Given the description of an element on the screen output the (x, y) to click on. 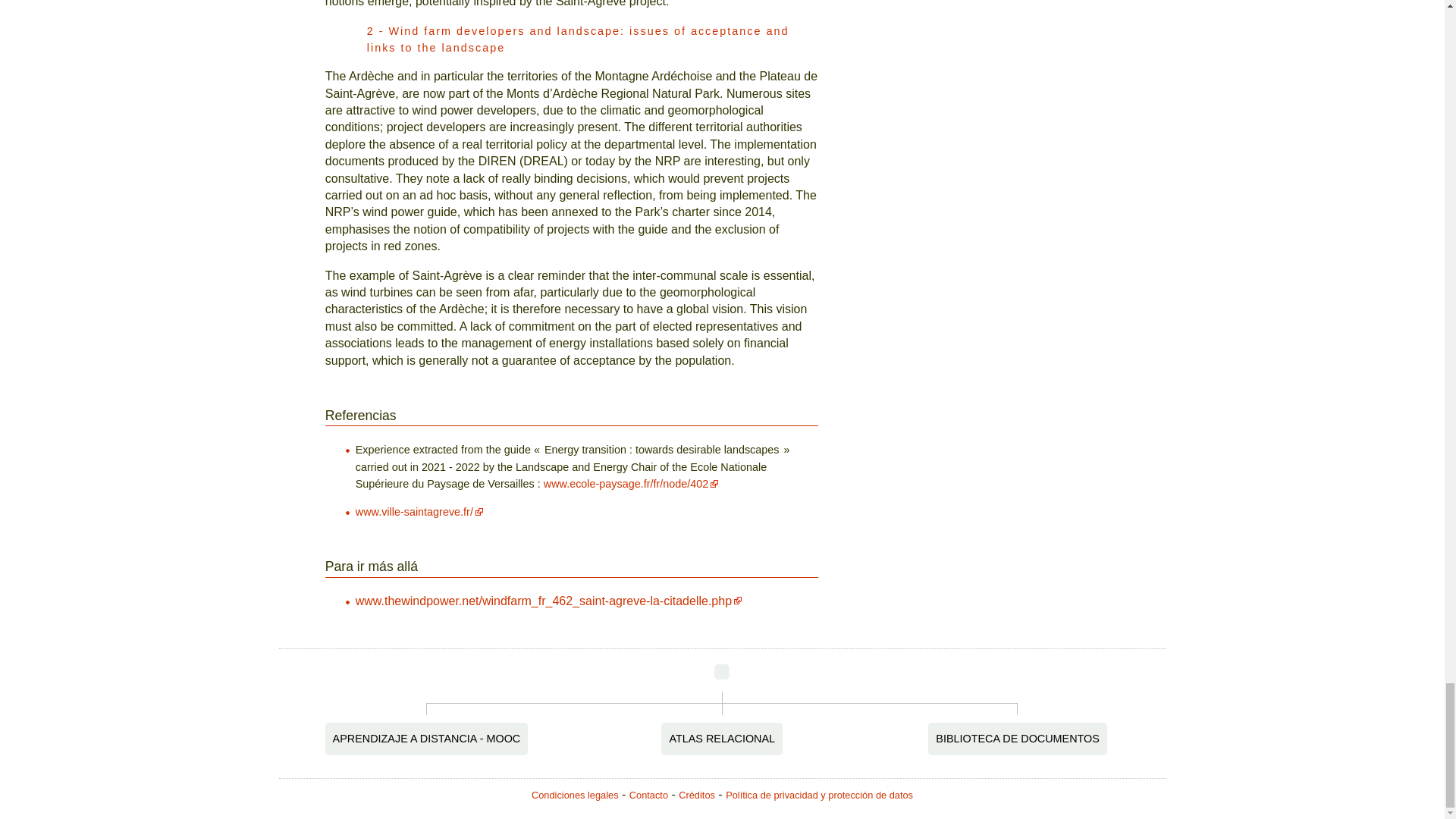
APRENDIZAJE A DISTANCIA - MOOC (426, 738)
ATLAS RELACIONAL (722, 738)
BIBLIOTECA DE DOCUMENTOS (1017, 738)
Condiciones legales (574, 794)
